Given the description of an element on the screen output the (x, y) to click on. 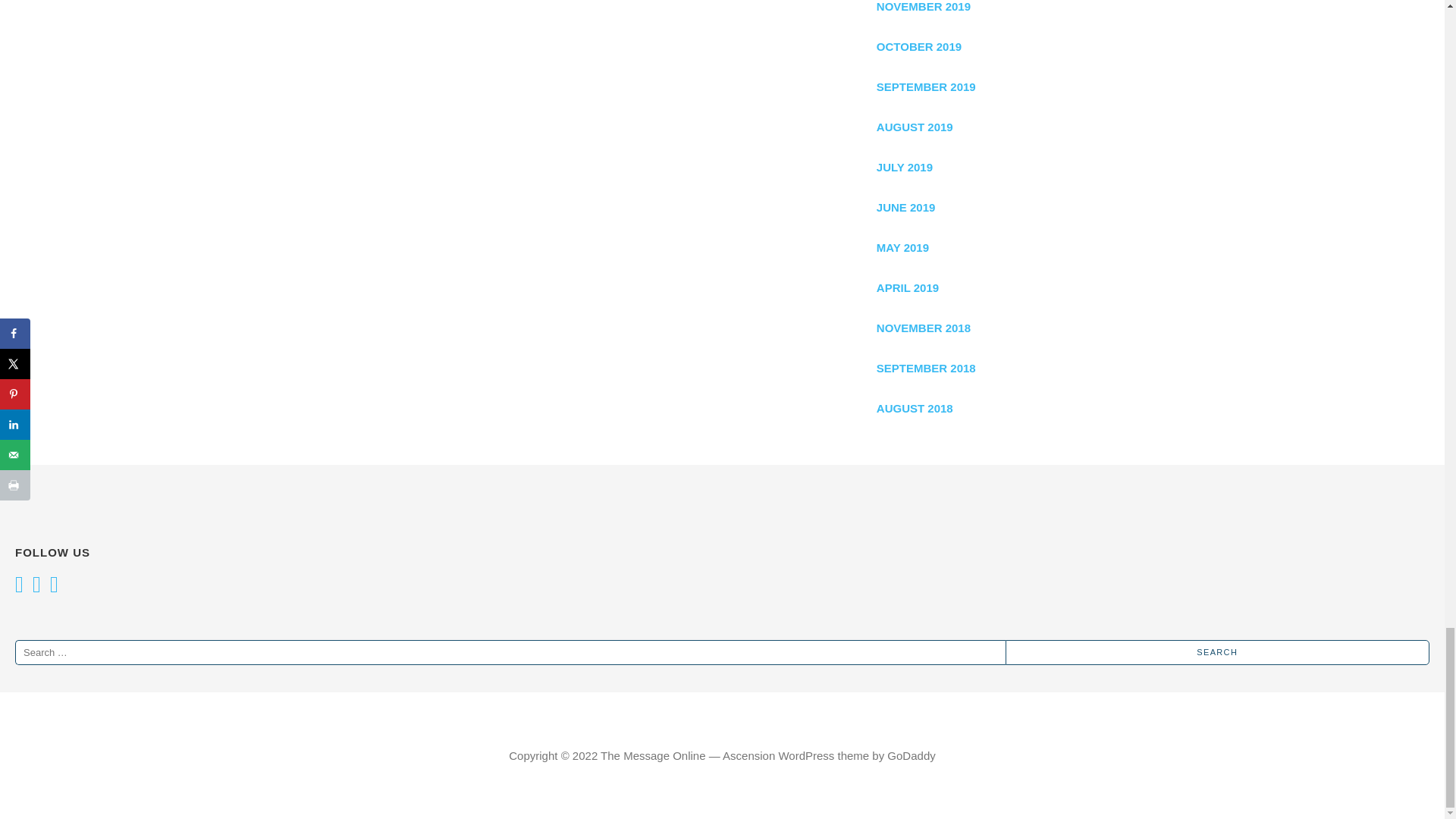
Search (1217, 652)
Search (1217, 652)
